Given the description of an element on the screen output the (x, y) to click on. 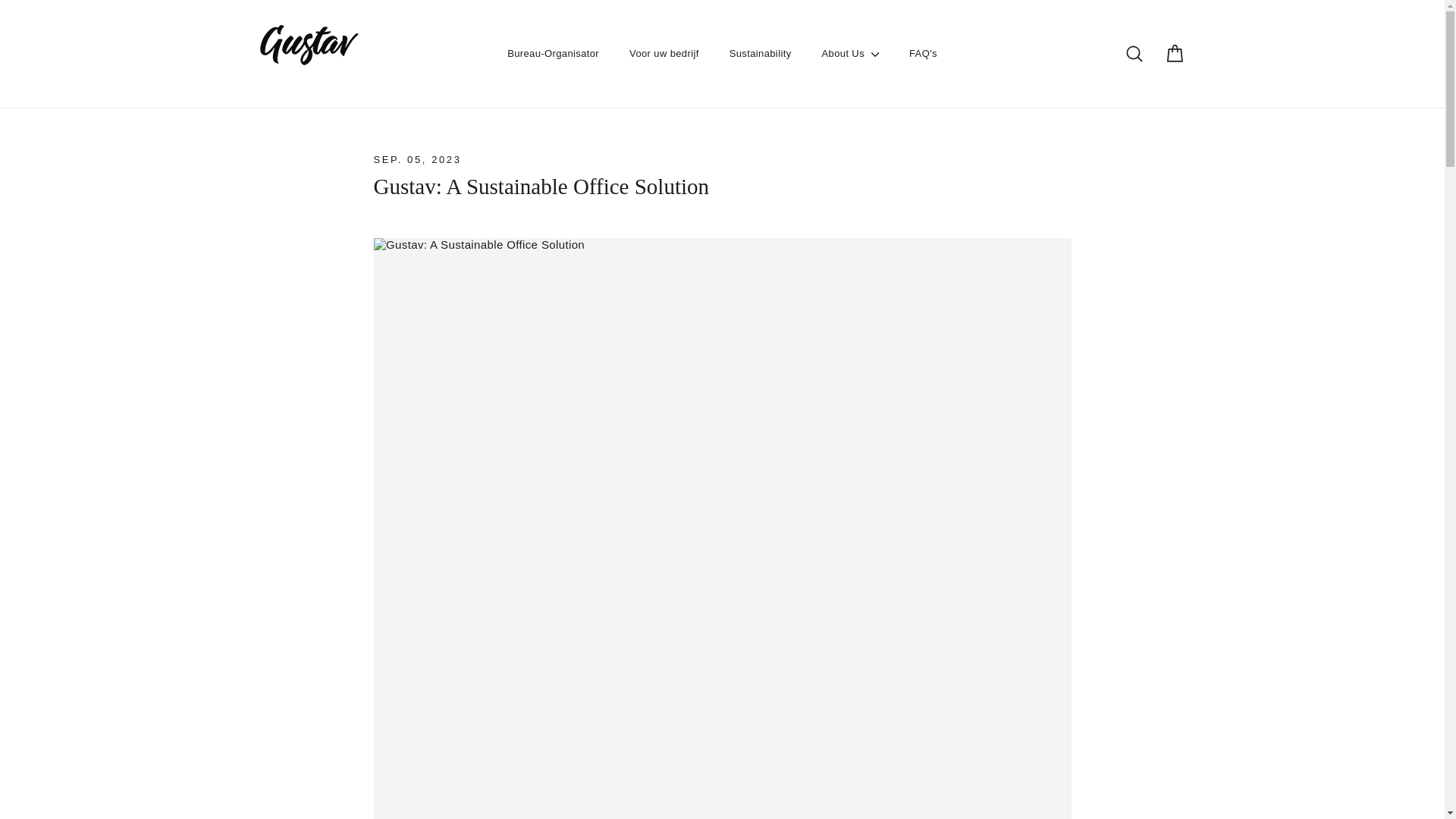
Cart (1173, 54)
Sustainability (760, 53)
FAQ's (922, 53)
Voor uw bedrijf (664, 53)
icon-search (1134, 53)
Bureau-Organisator (553, 53)
